Given the description of an element on the screen output the (x, y) to click on. 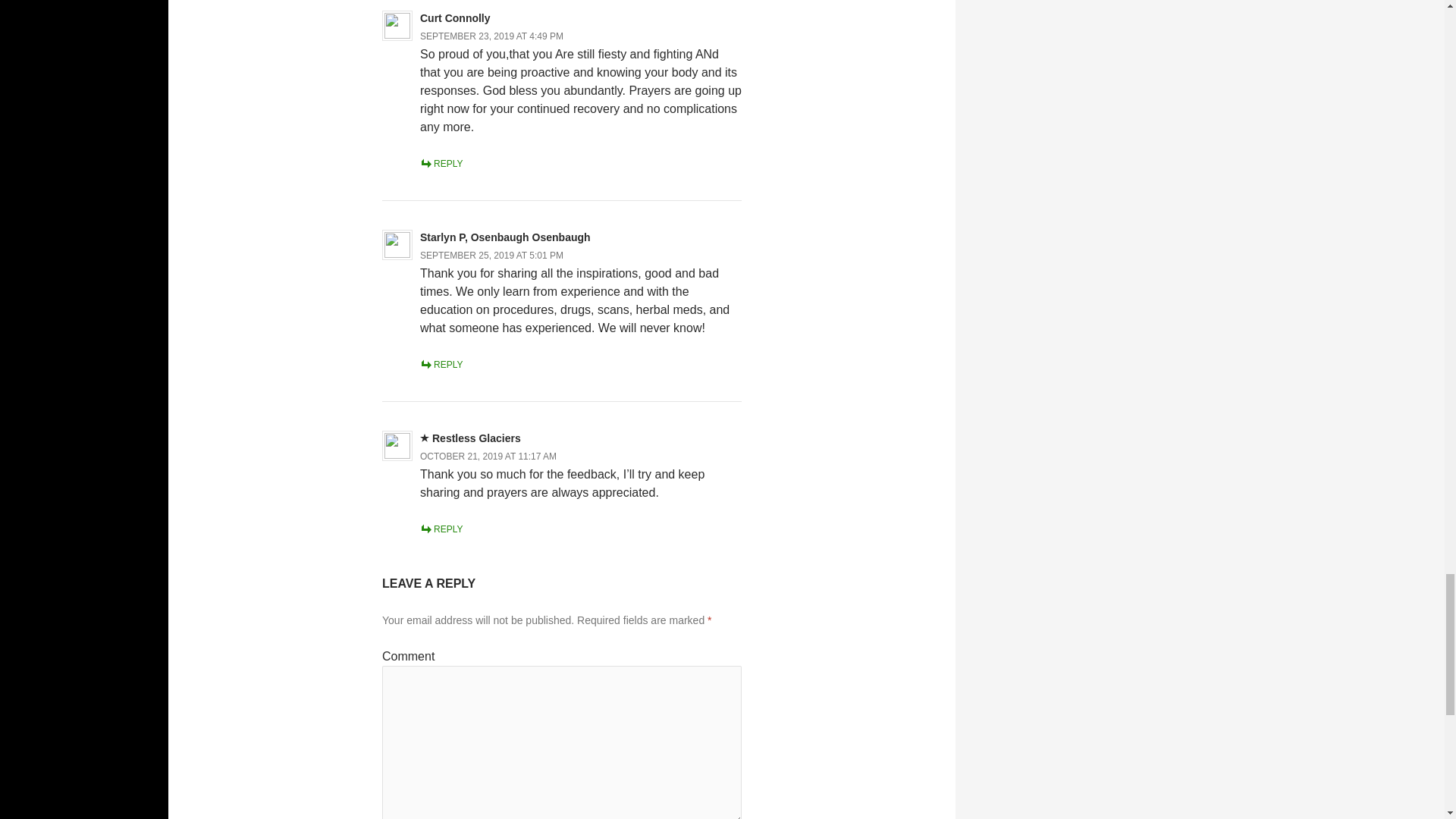
OCTOBER 21, 2019 AT 11:17 AM (488, 456)
REPLY (441, 364)
REPLY (441, 529)
SEPTEMBER 25, 2019 AT 5:01 PM (491, 255)
REPLY (441, 163)
SEPTEMBER 23, 2019 AT 4:49 PM (491, 36)
